Given the description of an element on the screen output the (x, y) to click on. 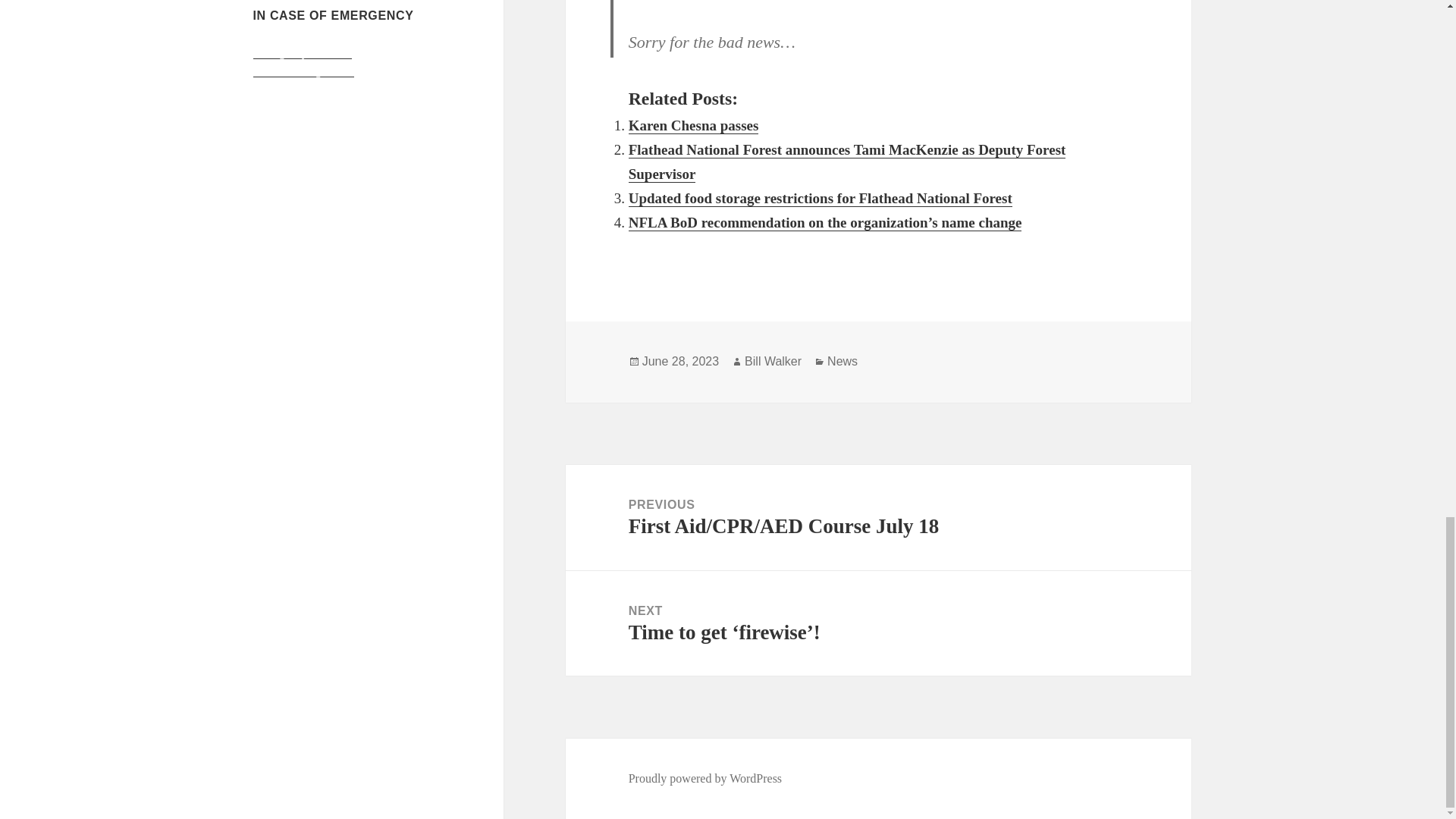
Karen Chesna passes (693, 125)
